Given the description of an element on the screen output the (x, y) to click on. 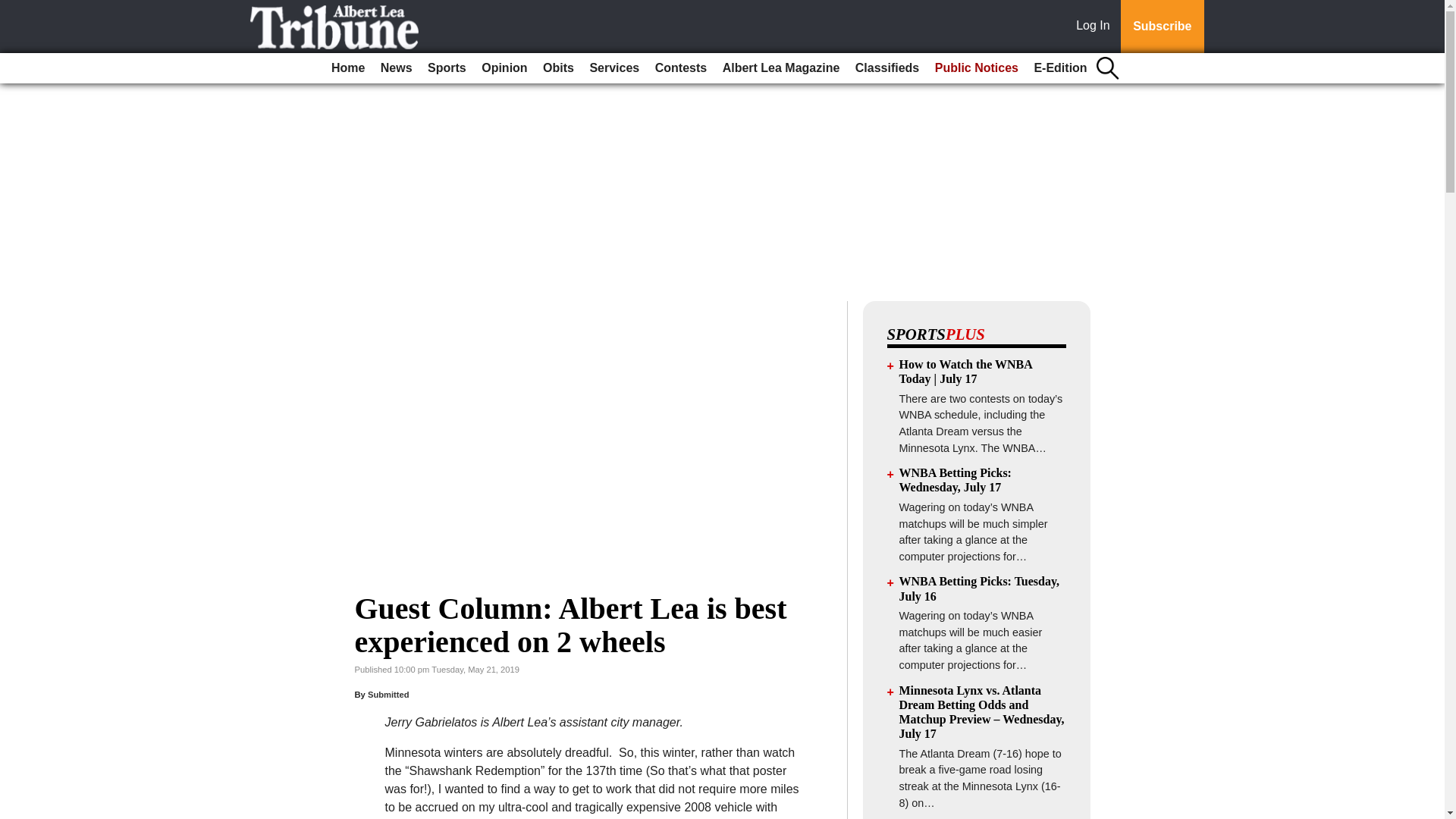
Opinion (504, 68)
Obits (558, 68)
Log In (1095, 26)
News (396, 68)
Home (347, 68)
Subscribe (1162, 26)
Sports (446, 68)
Services (614, 68)
